Given the description of an element on the screen output the (x, y) to click on. 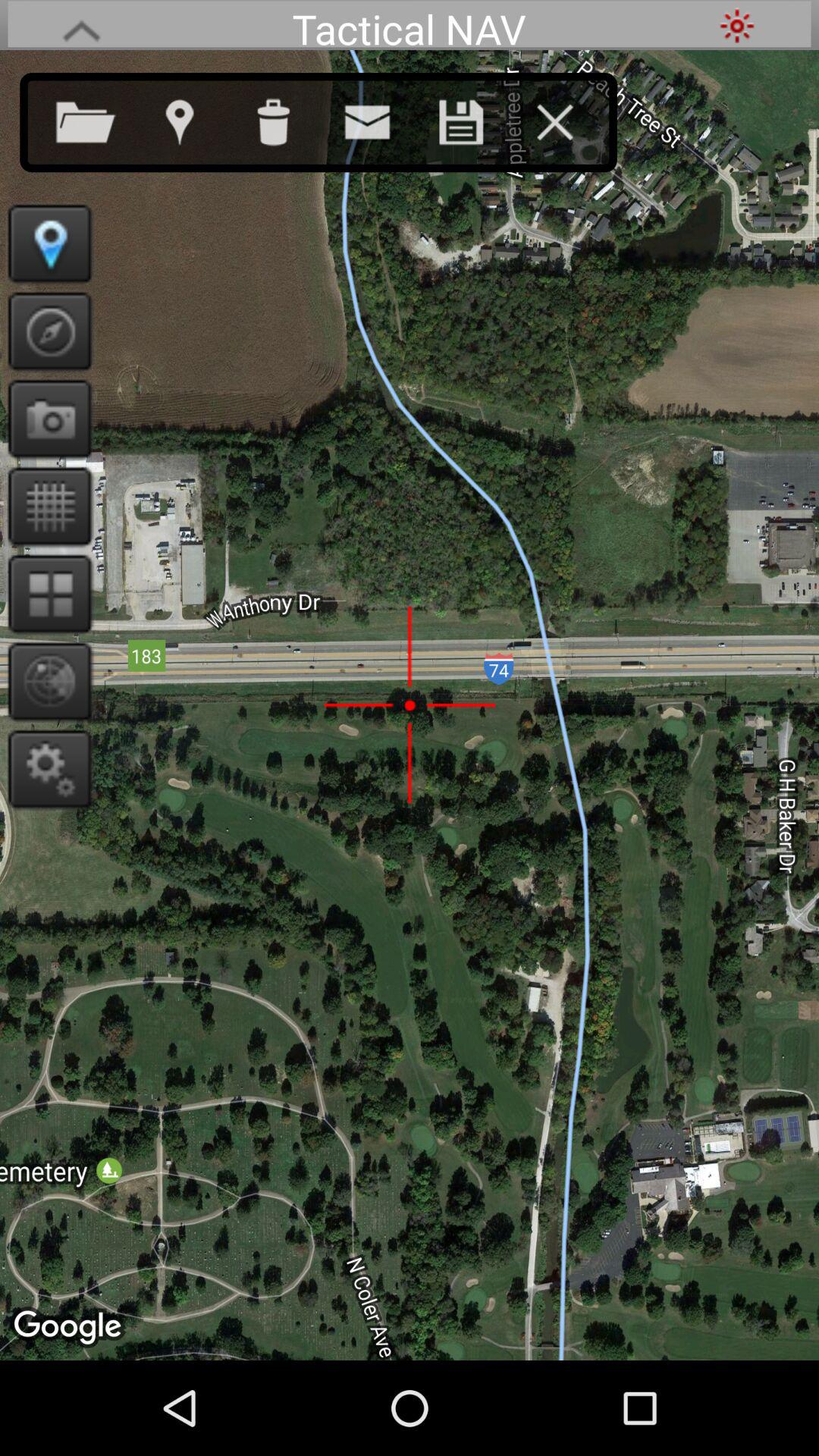
settings (737, 25)
